Given the description of an element on the screen output the (x, y) to click on. 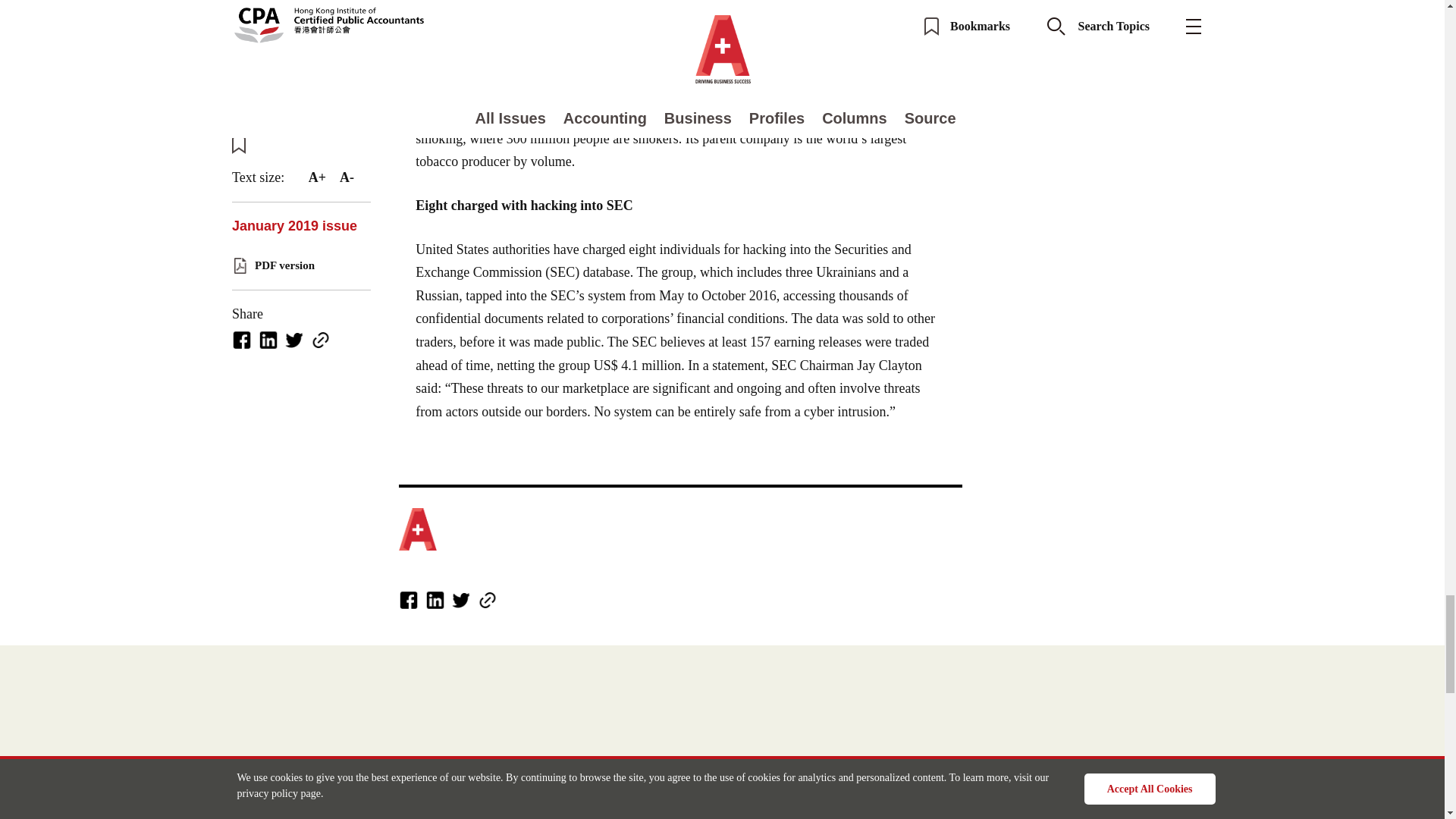
Page 3 (680, 86)
Page 3 (680, 86)
Page 3 (680, 86)
